Given the description of an element on the screen output the (x, y) to click on. 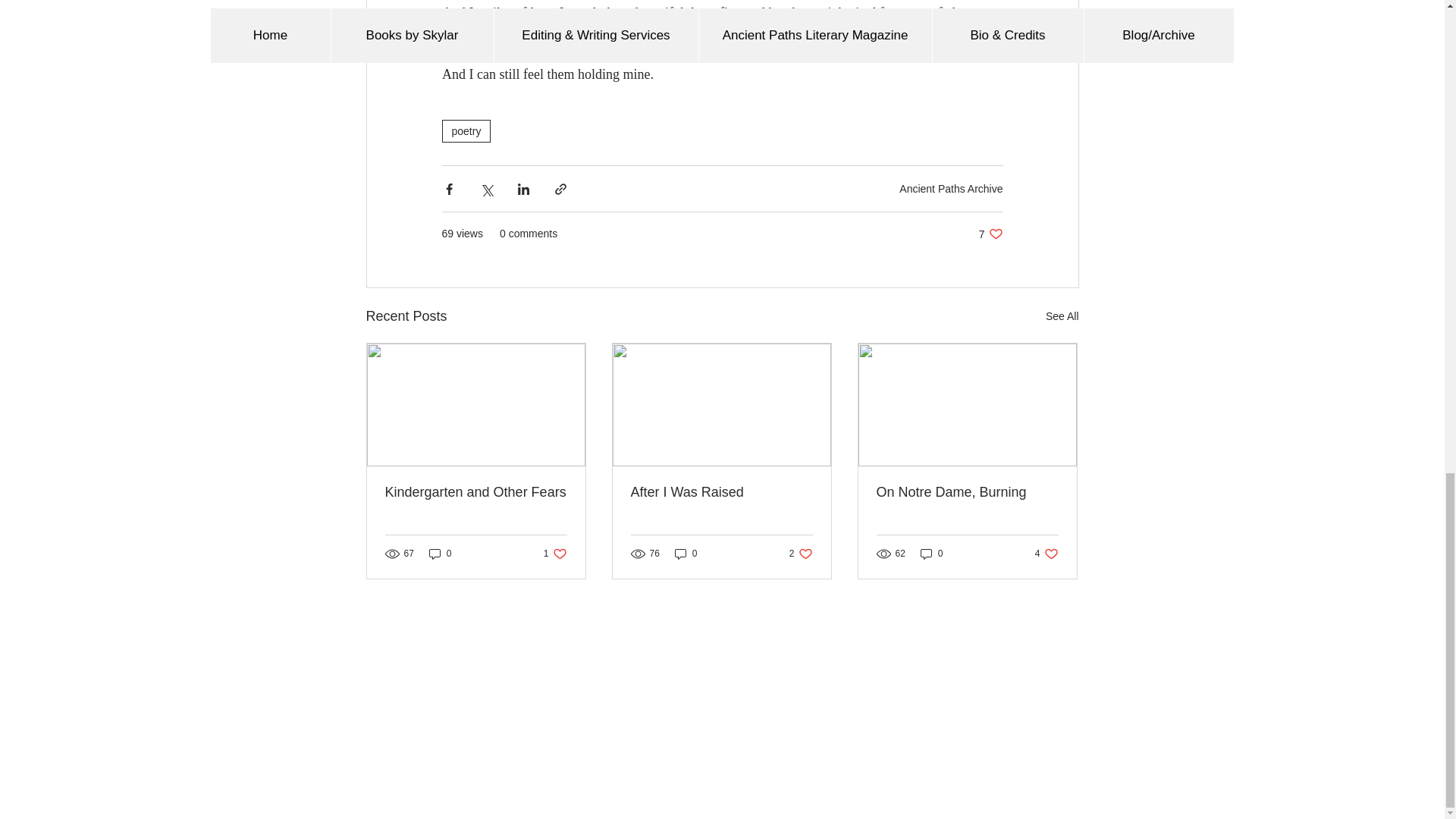
Kindergarten and Other Fears (476, 492)
See All (1061, 316)
0 (555, 554)
poetry (440, 554)
0 (465, 130)
After I Was Raised (685, 554)
Ancient Paths Archive (800, 554)
